Given the description of an element on the screen output the (x, y) to click on. 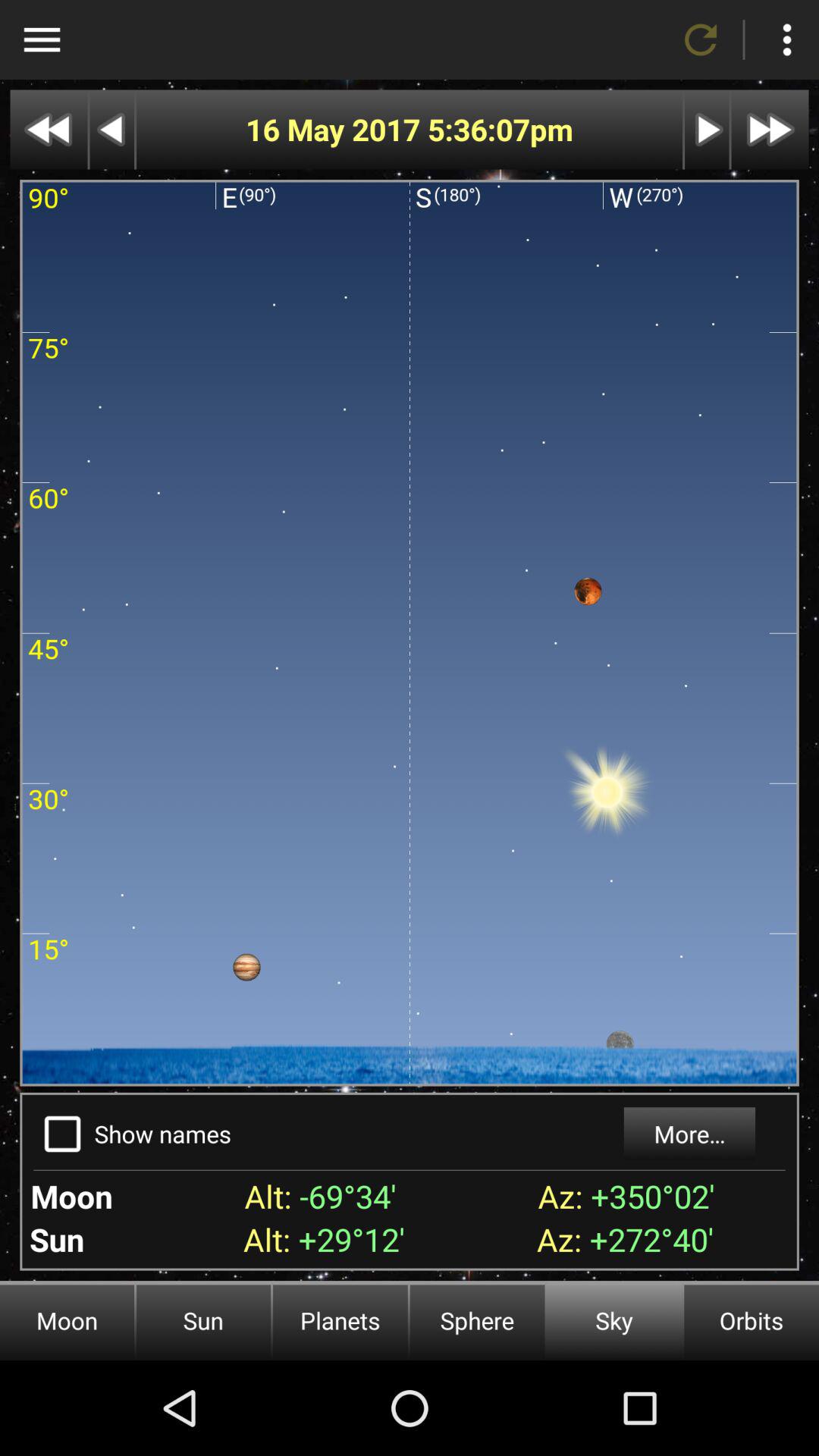
fast forward option (769, 129)
